Given the description of an element on the screen output the (x, y) to click on. 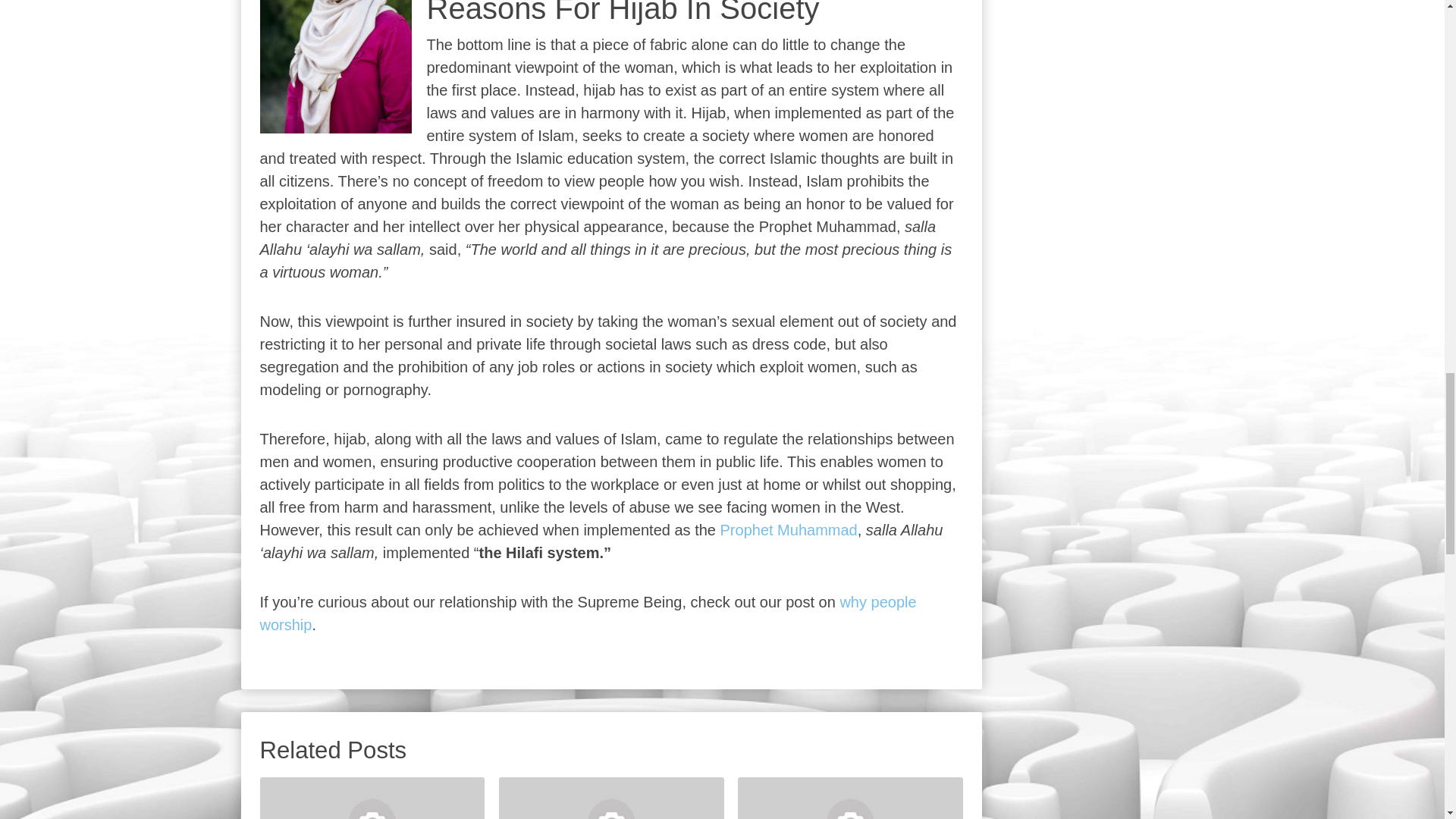
Why Do People Hate Modern Architecture? (371, 798)
why people worship (587, 613)
Why Do People Work? (850, 798)
Why Do People Hate Feminism? (611, 798)
Prophet Muhammad (788, 529)
